Given the description of an element on the screen output the (x, y) to click on. 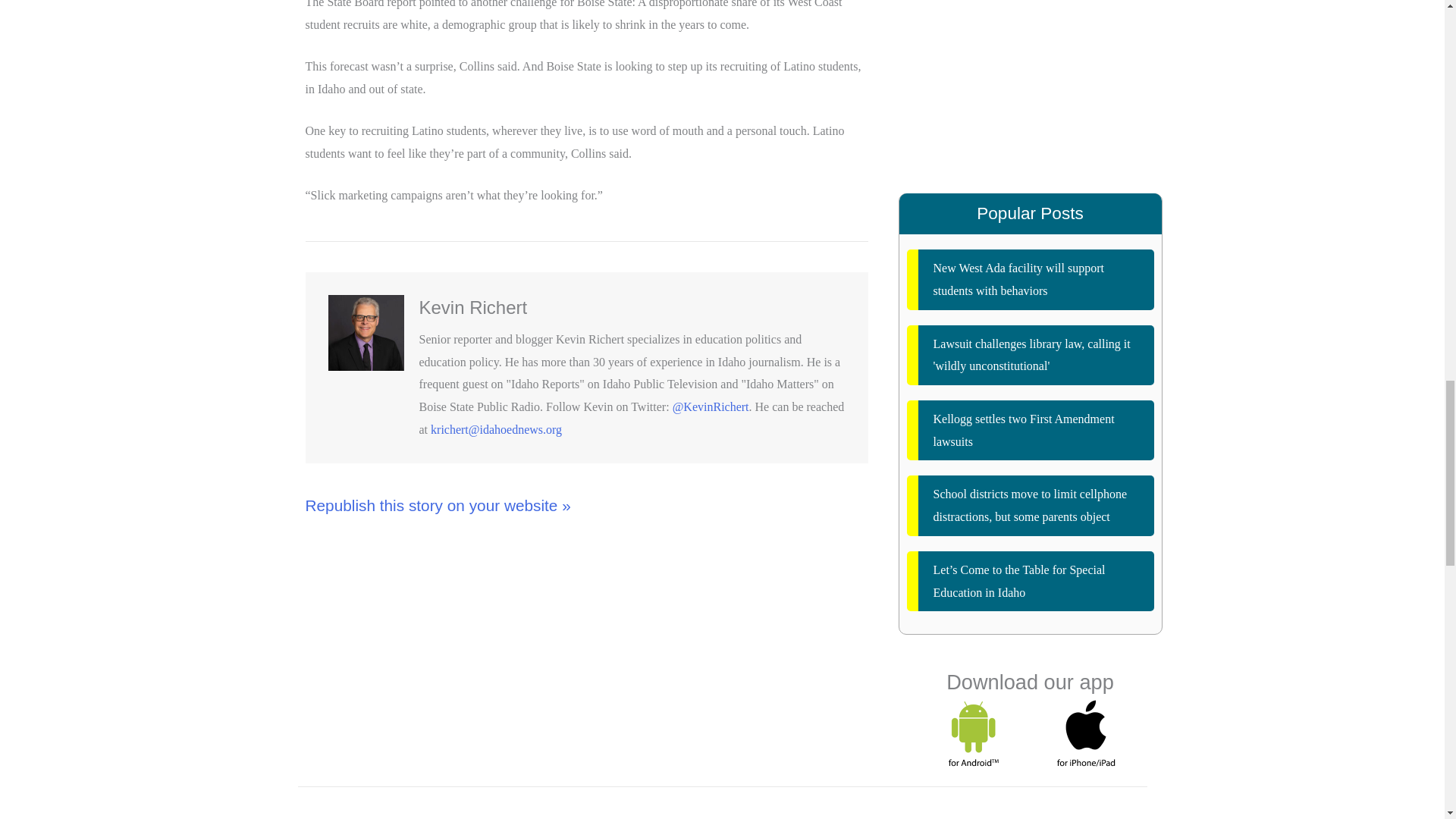
New West Ada facility will support students with behaviors (1030, 279)
Kellogg settles two First Amendment lawsuits (1030, 430)
